Given the description of an element on the screen output the (x, y) to click on. 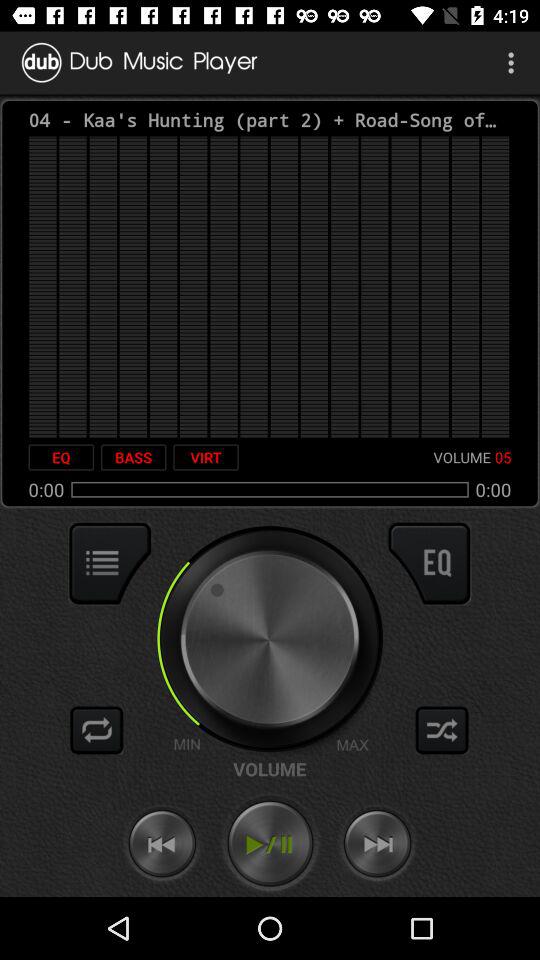
scroll to the   eq   item (61, 457)
